Given the description of an element on the screen output the (x, y) to click on. 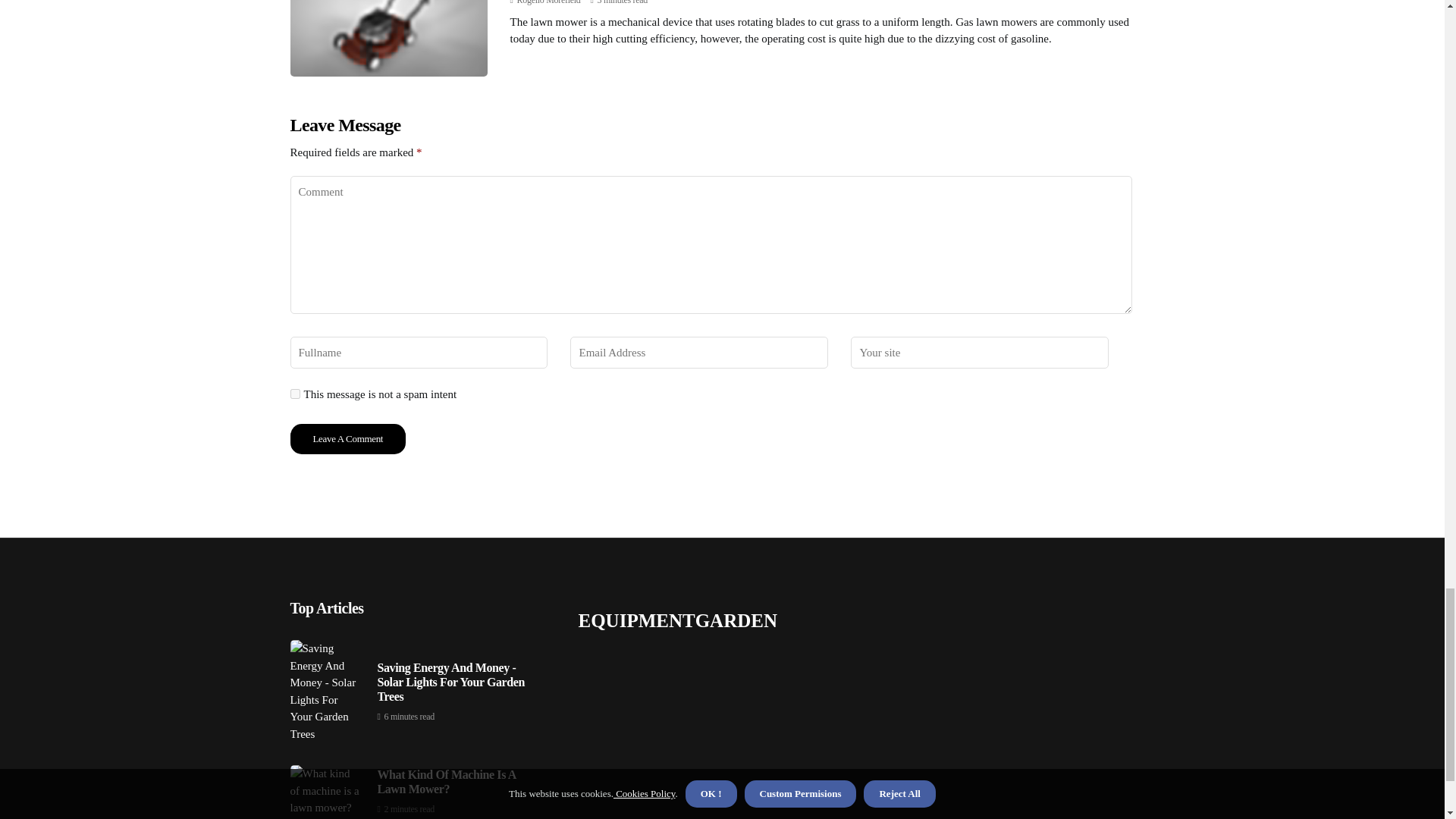
Leave a Comment (347, 439)
Rogelio Morefield (548, 2)
yes (294, 393)
Posts by Rogelio Morefield (548, 2)
Leave a Comment (347, 439)
